Given the description of an element on the screen output the (x, y) to click on. 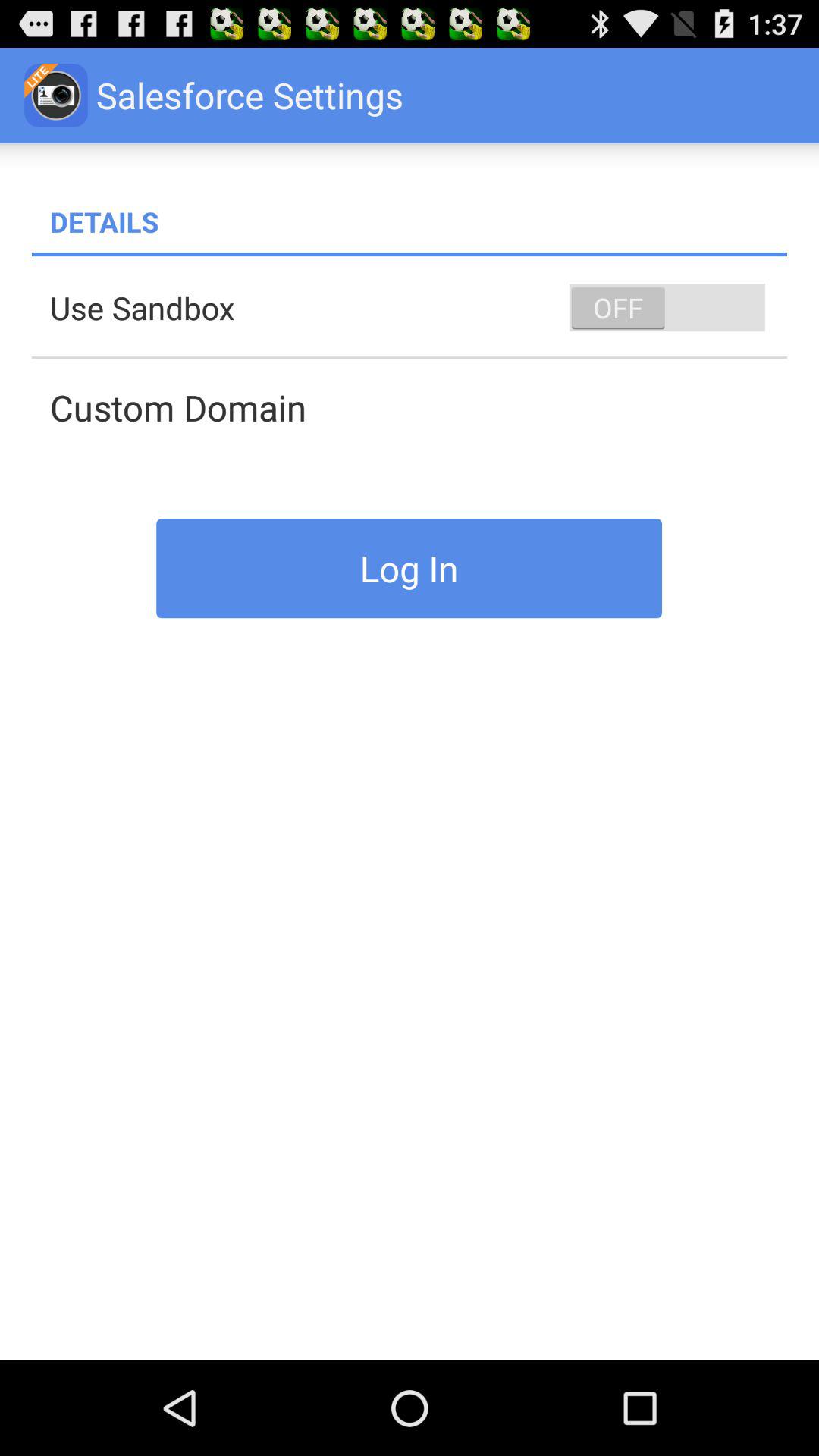
swipe until details (418, 221)
